Given the description of an element on the screen output the (x, y) to click on. 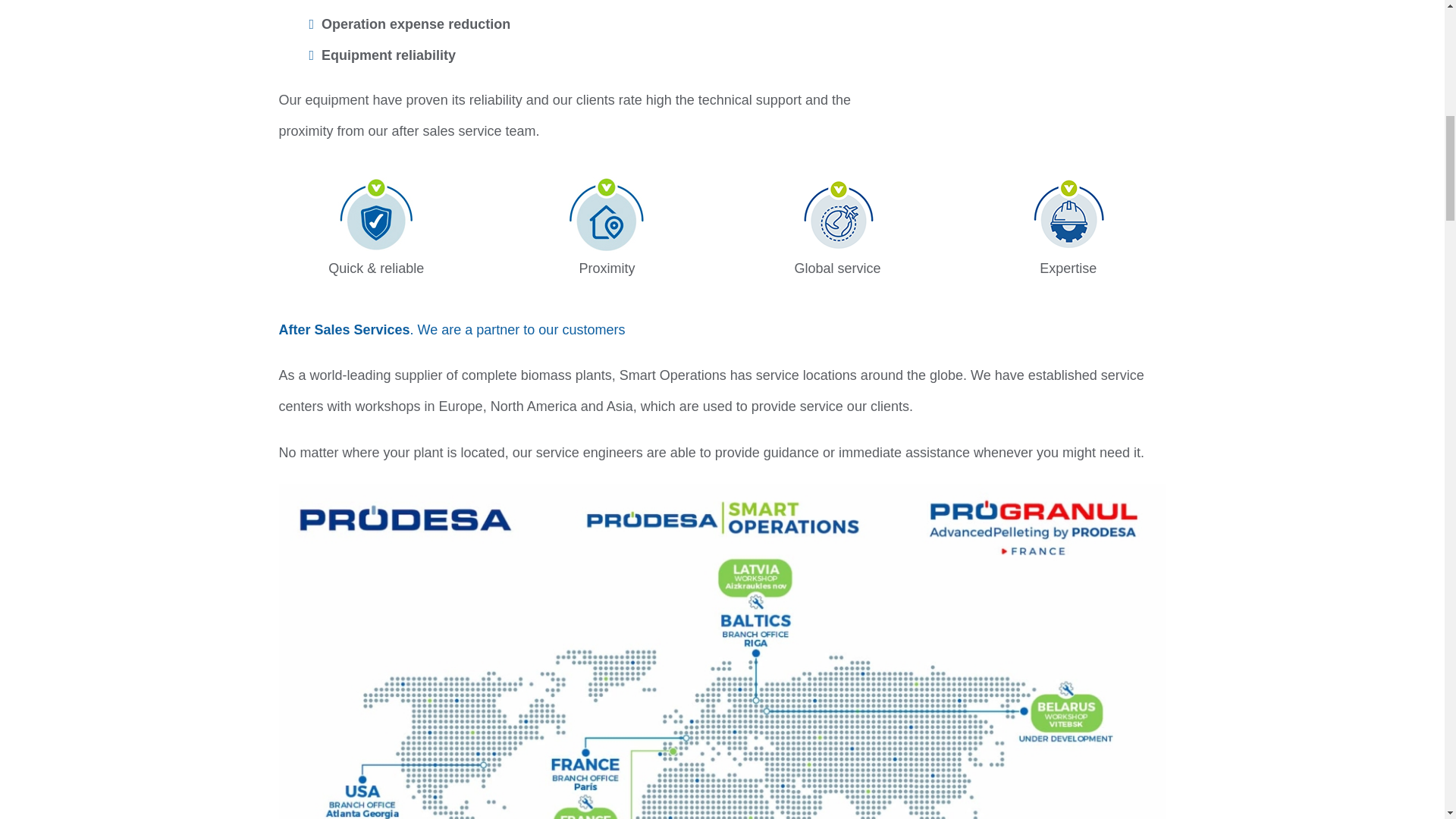
Contact (607, 215)
Contact (837, 215)
Contact (375, 215)
Contact (1068, 215)
